Given the description of an element on the screen output the (x, y) to click on. 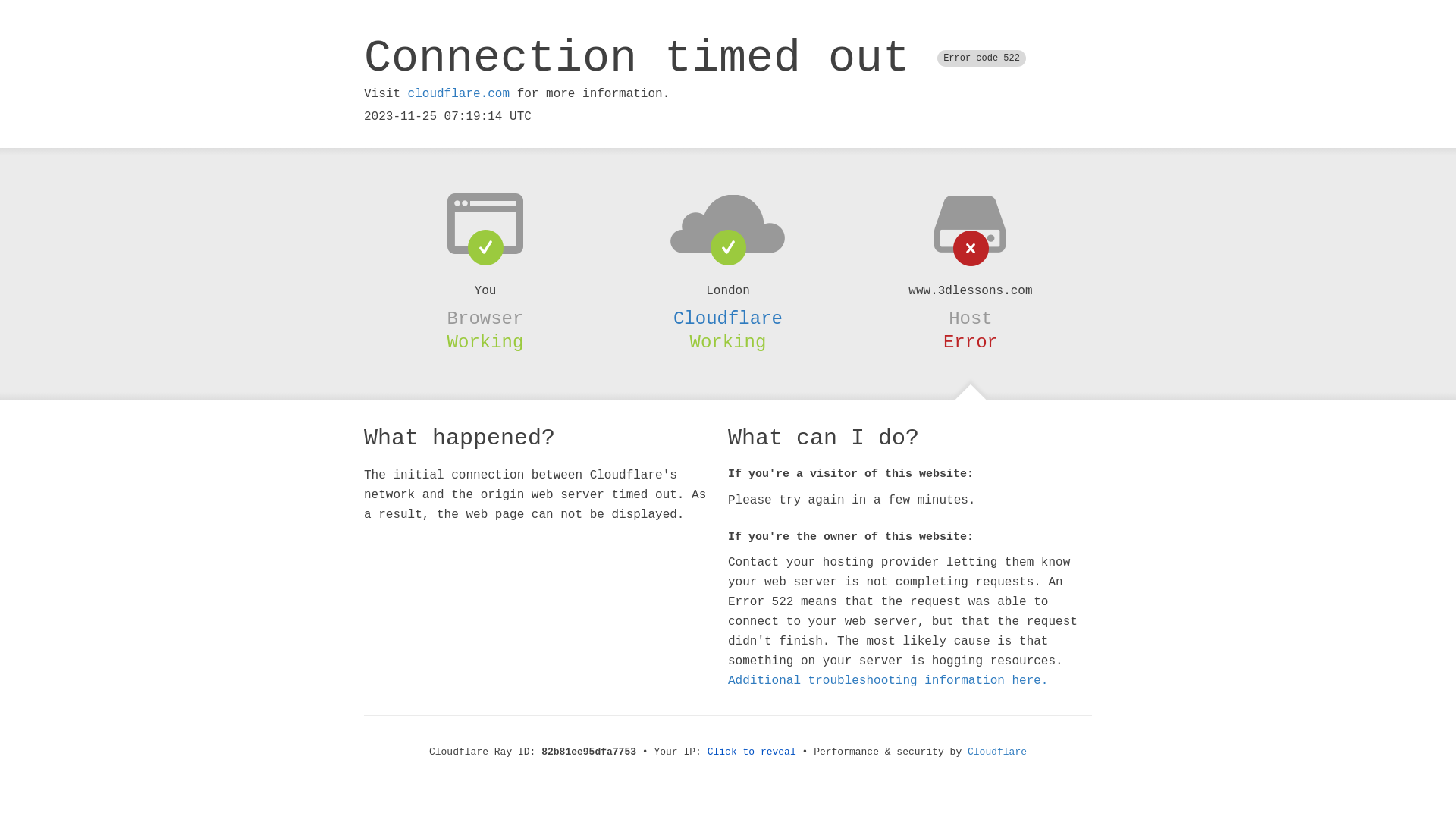
Cloudflare Element type: text (727, 318)
Cloudflare Element type: text (996, 751)
Click to reveal Element type: text (751, 751)
cloudflare.com Element type: text (458, 93)
Additional troubleshooting information here. Element type: text (888, 680)
